Given the description of an element on the screen output the (x, y) to click on. 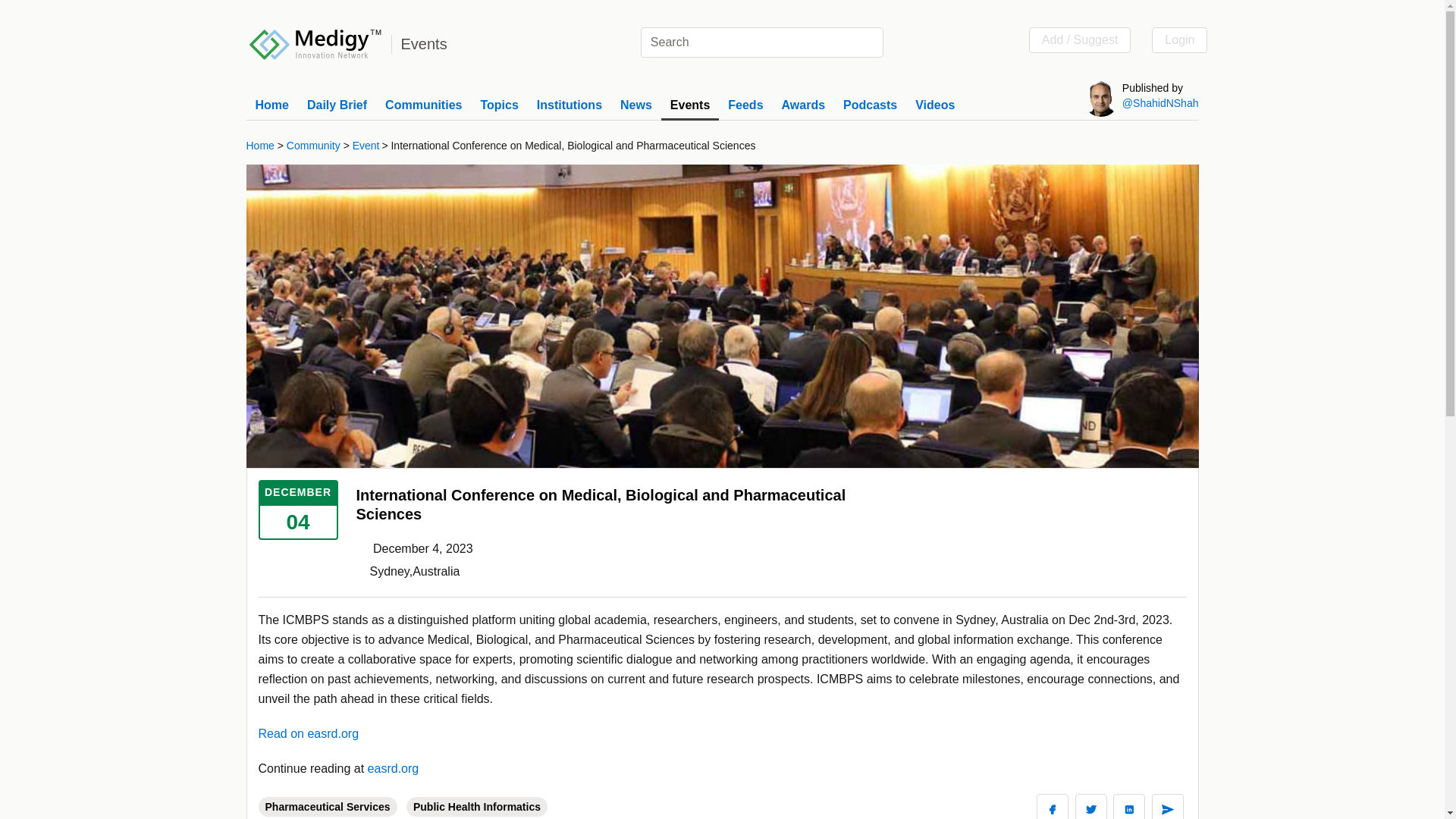
News (636, 105)
Feeds (745, 105)
Institutions (569, 105)
Pharmaceutical Services (330, 806)
Communities (423, 105)
Home (271, 105)
Login (1179, 40)
Podcasts (869, 105)
Communities (422, 105)
Videos (935, 105)
